Given the description of an element on the screen output the (x, y) to click on. 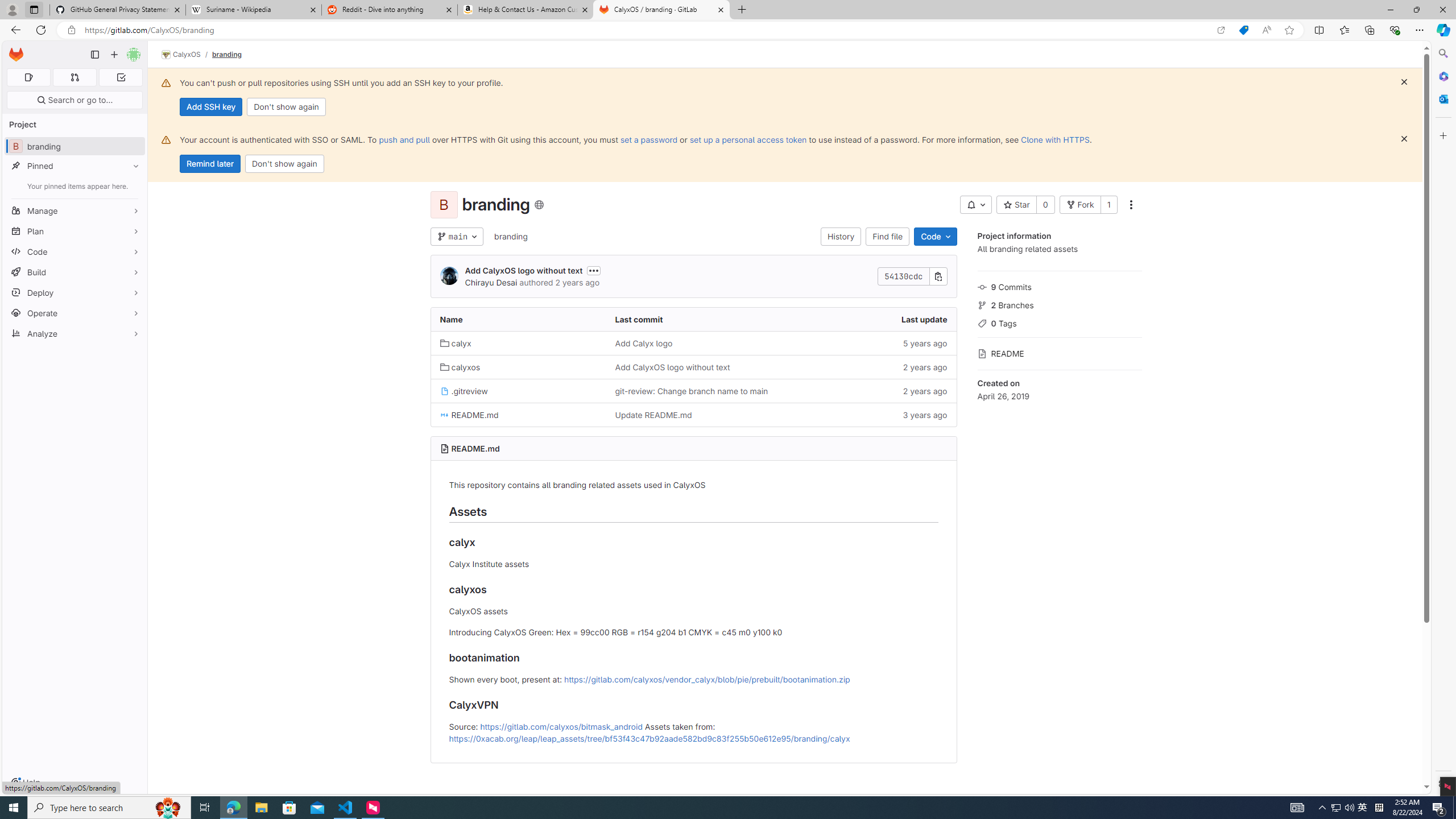
Deploy (74, 292)
README.md (517, 414)
Assigned issues 0 (28, 76)
Class: s16 icon (538, 204)
Class: s16 gl-icon gl-button-icon  (1404, 138)
Class: s16 gl-alert-icon gl-alert-icon-no-title (165, 139)
B branding (74, 145)
3 years ago (868, 414)
GitHub General Privacy Statement - GitHub Docs (117, 9)
Add Calyx logo (643, 342)
Deploy (74, 292)
Class: s16 position-relative file-icon (444, 414)
Last commit (693, 319)
